Given the description of an element on the screen output the (x, y) to click on. 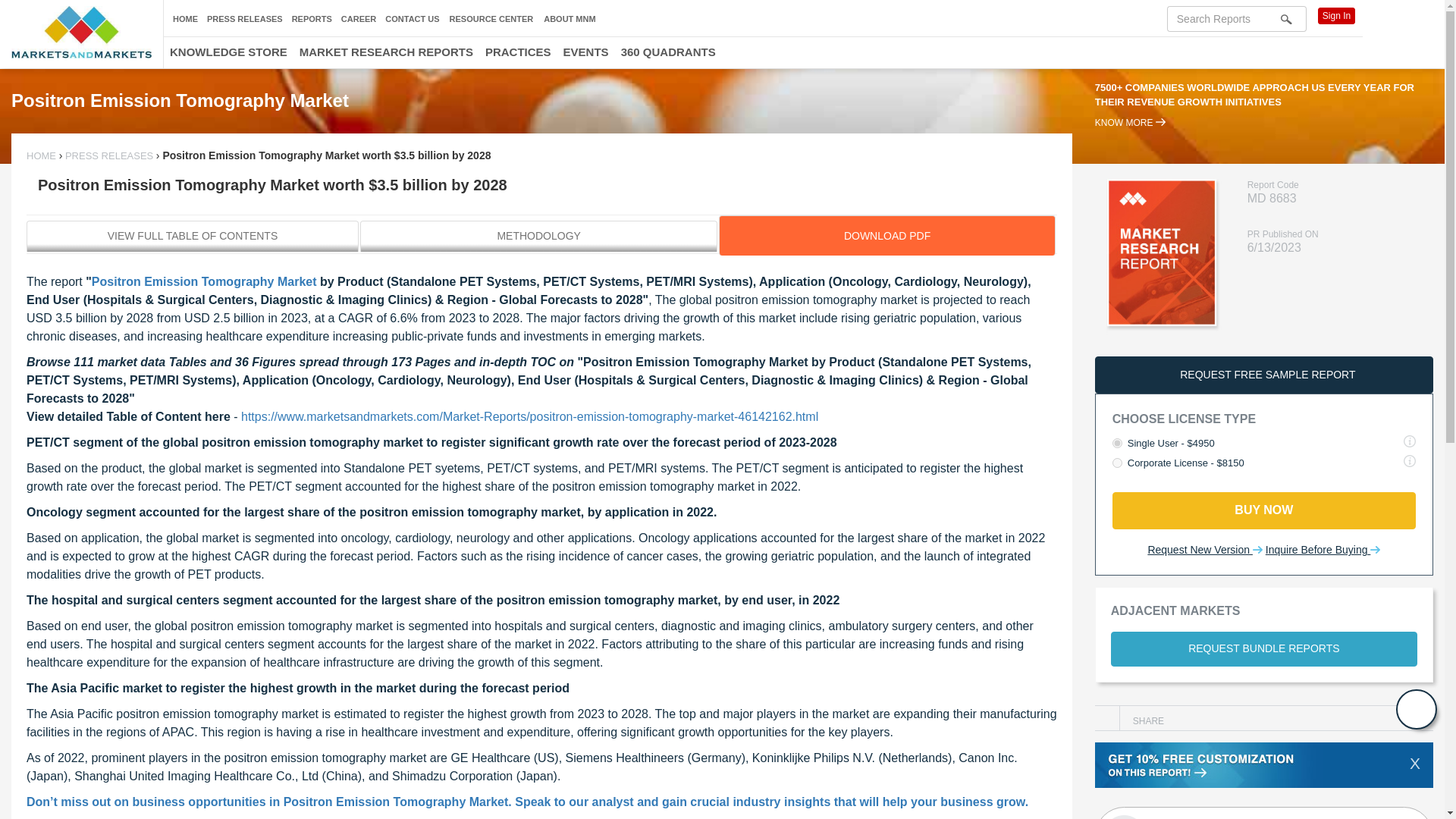
Positron Emission Tomography Market (204, 281)
REQUEST BUNDLE REPORTS (1263, 648)
REPORTS (311, 18)
CAREER (357, 18)
Request New Version (1263, 812)
HOME (1204, 549)
PRESS RELEASES (42, 155)
VIEW FULL TABLE OF CONTENTS (244, 18)
